Given the description of an element on the screen output the (x, y) to click on. 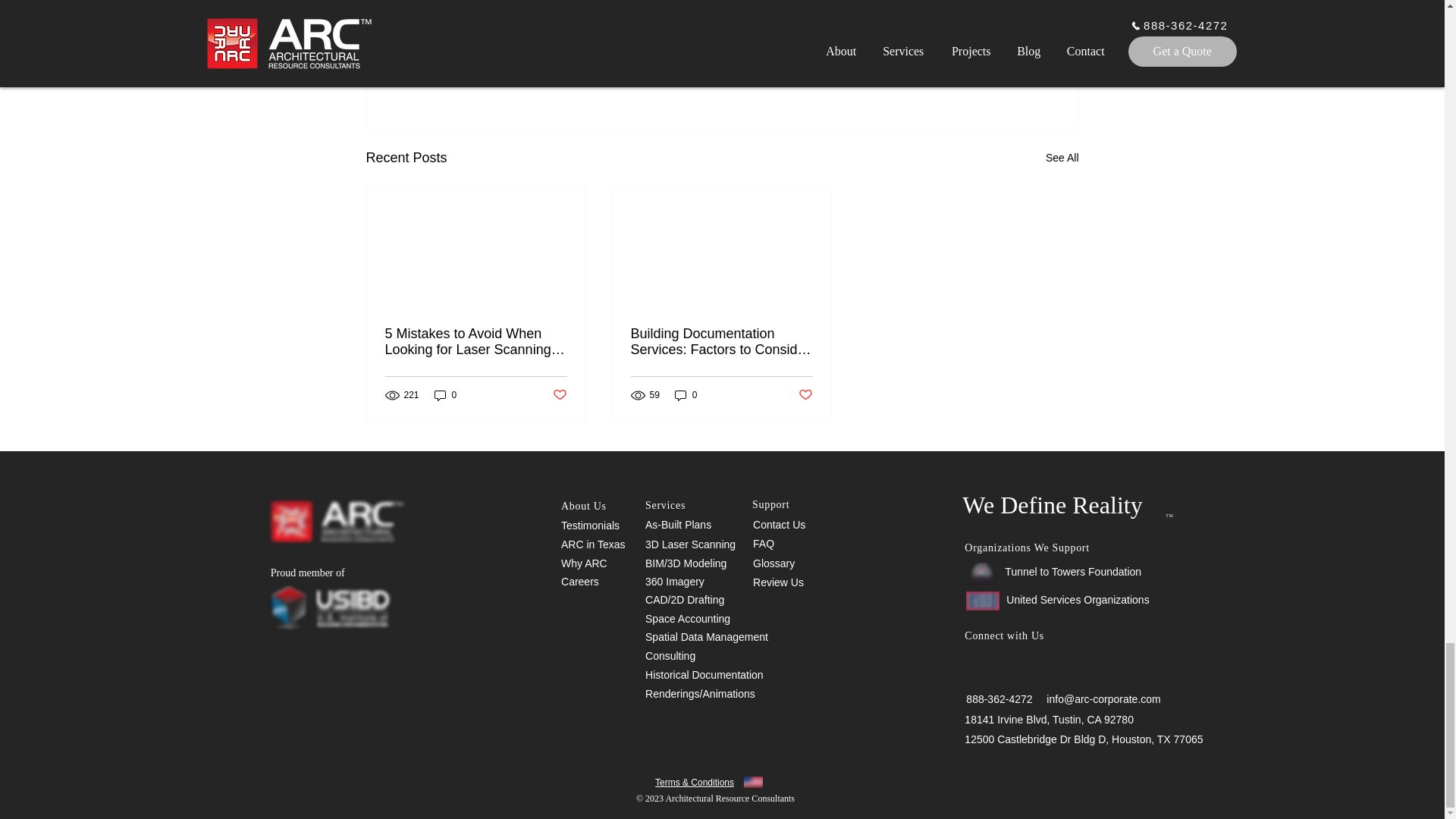
Flag.png (753, 781)
